Given the description of an element on the screen output the (x, y) to click on. 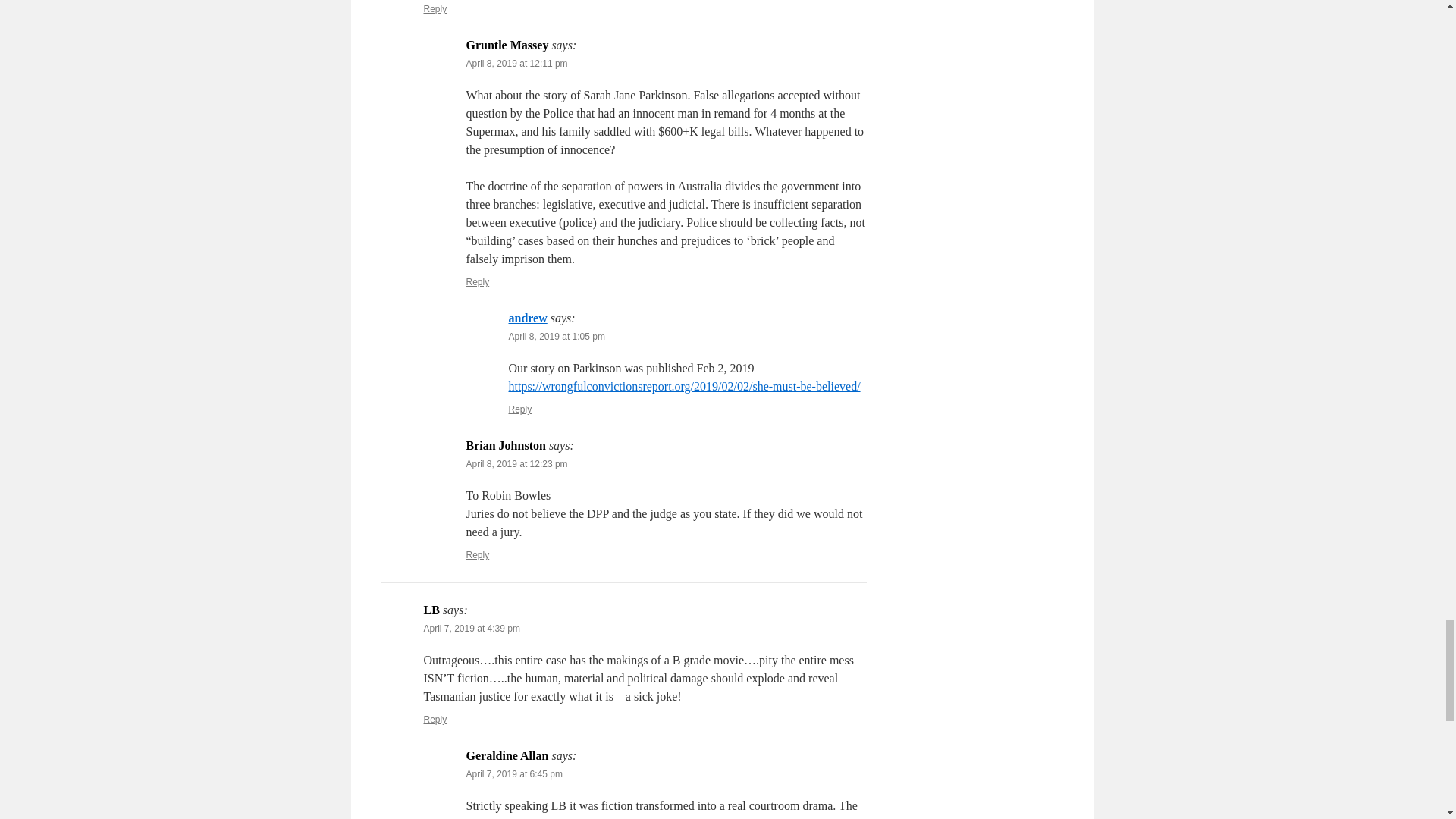
Reply (477, 281)
andrew (527, 318)
April 8, 2019 at 1:05 pm (556, 336)
Reply (434, 9)
April 8, 2019 at 12:11 pm (516, 63)
